Given the description of an element on the screen output the (x, y) to click on. 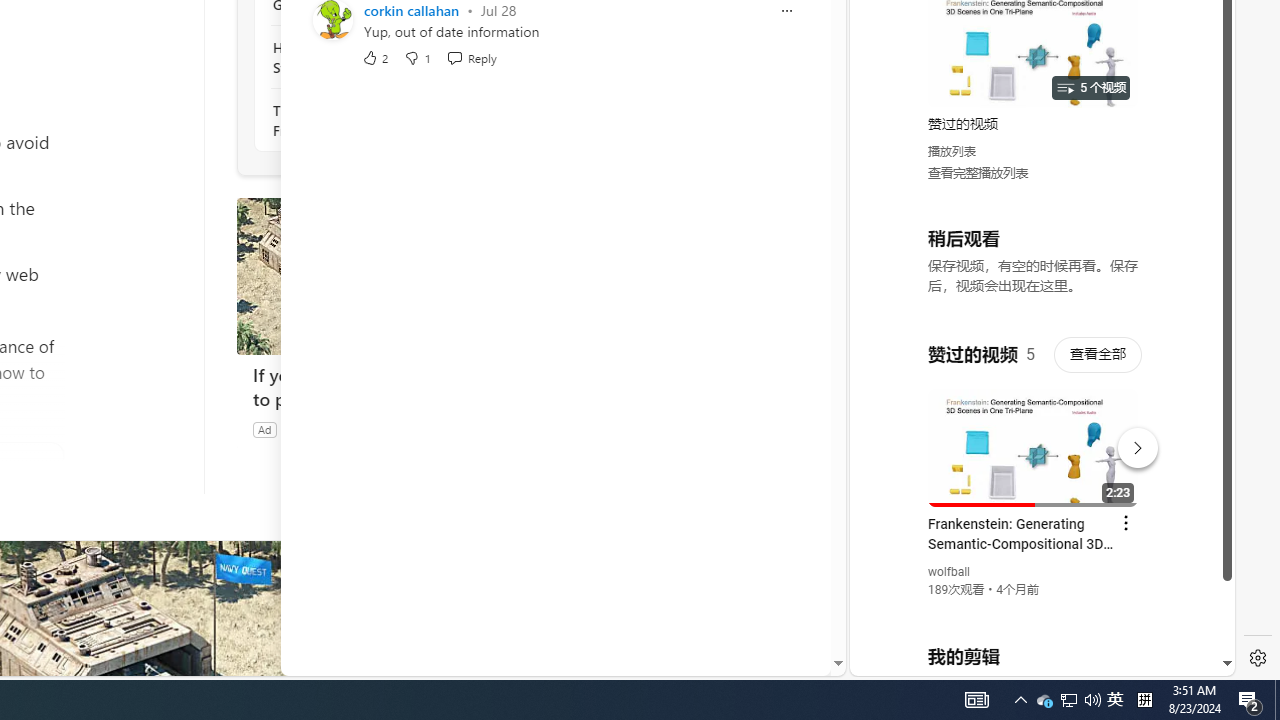
How to Check Your Wi-Fi Signal Strength (381, 57)
Ad (264, 429)
Ad Choice (514, 429)
wolfball (949, 572)
YouTube - YouTube (1034, 266)
Actions for this site (1131, 443)
Navy Quest Game (329, 429)
These Are the Best Sites for DRM-Free eBooks and Comics (381, 120)
US[ju] (917, 660)
Reply Reply Comment (471, 56)
you (1034, 609)
YouTube (1034, 432)
